Given the description of an element on the screen output the (x, y) to click on. 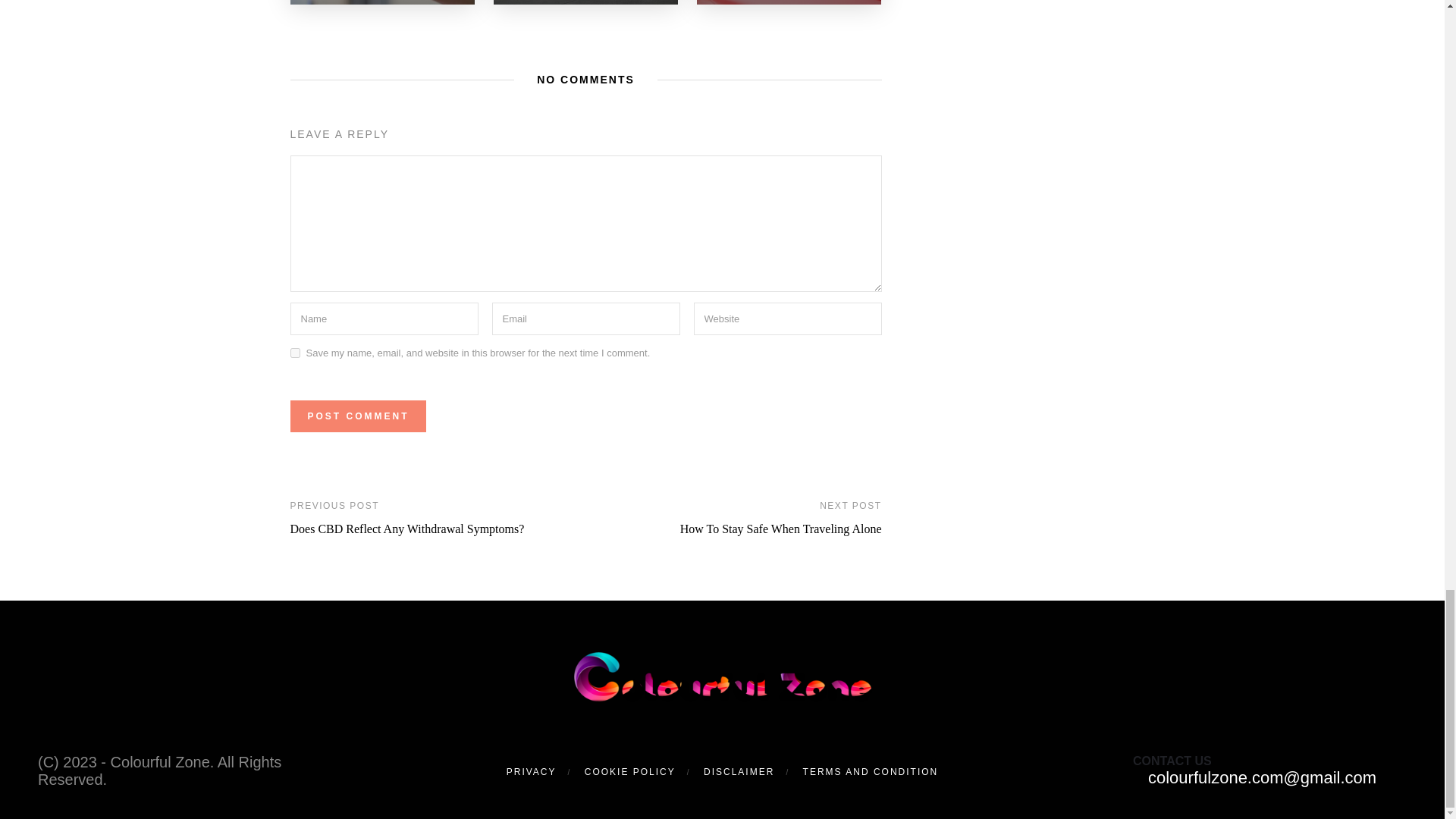
Please wait until Google reCAPTCHA is loaded. (357, 416)
Post Comment (357, 416)
yes (294, 352)
